Given the description of an element on the screen output the (x, y) to click on. 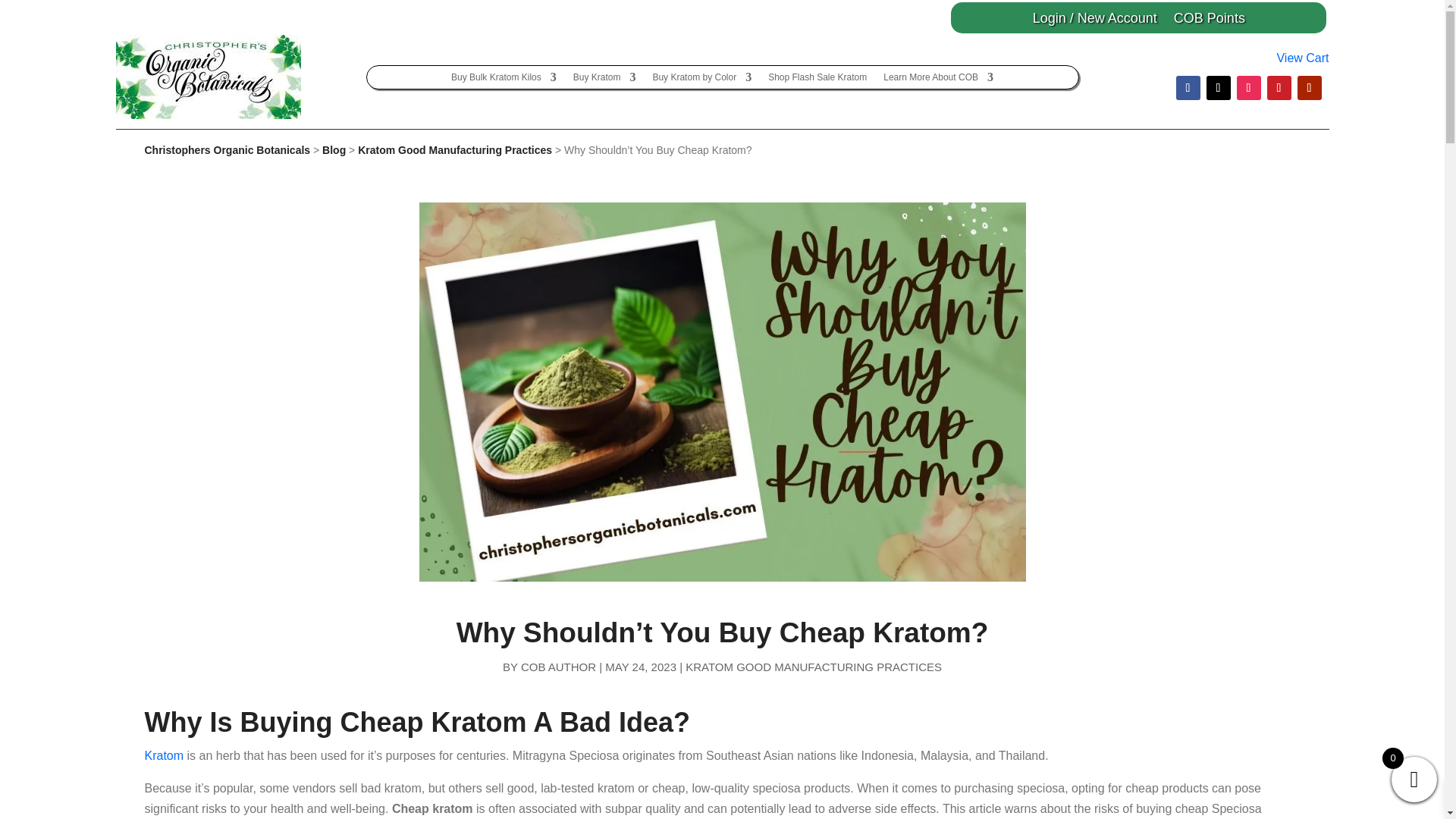
Christophers Organic Botanicals (227, 150)
Kratom Good Manufacturing Practices (454, 150)
Shop Flash Sale Kratom (817, 80)
COB AUTHOR (558, 666)
Follow on Facebook (1186, 87)
Follow on Youtube (1308, 87)
Follow on Pinterest (1278, 87)
Follow on Instagram (1248, 87)
christophers-organic-botanicals-logo-buy-kratom (207, 76)
COB Points (1208, 20)
Kratom (163, 755)
Go to Christophers Organic Botanicals. (227, 150)
KRATOM GOOD MANUFACTURING PRACTICES (813, 666)
Posts by COB Author (558, 666)
View Cart (1301, 57)
